Given the description of an element on the screen output the (x, y) to click on. 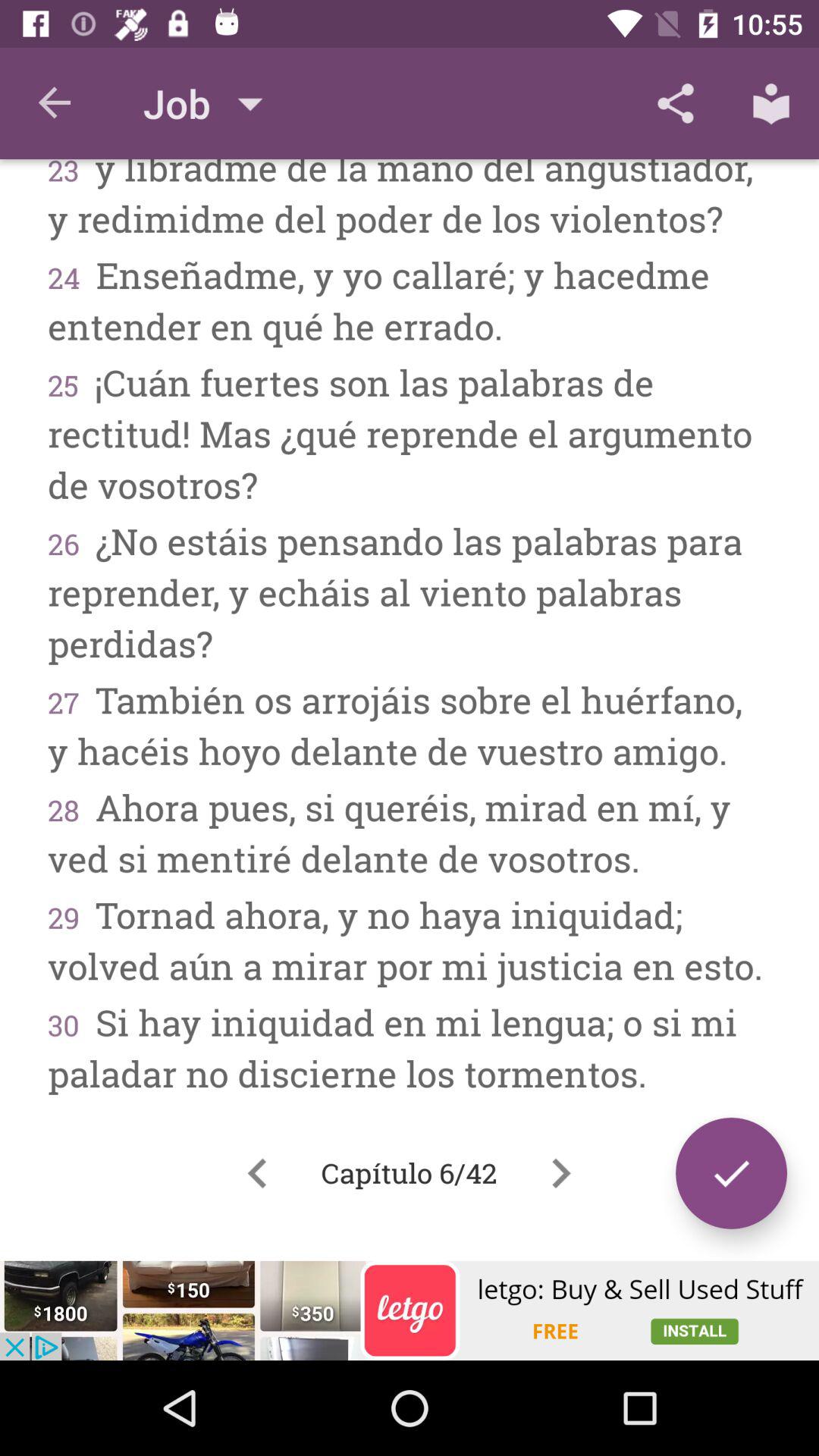
click the item above the 23 y libradme icon (55, 103)
